Given the description of an element on the screen output the (x, y) to click on. 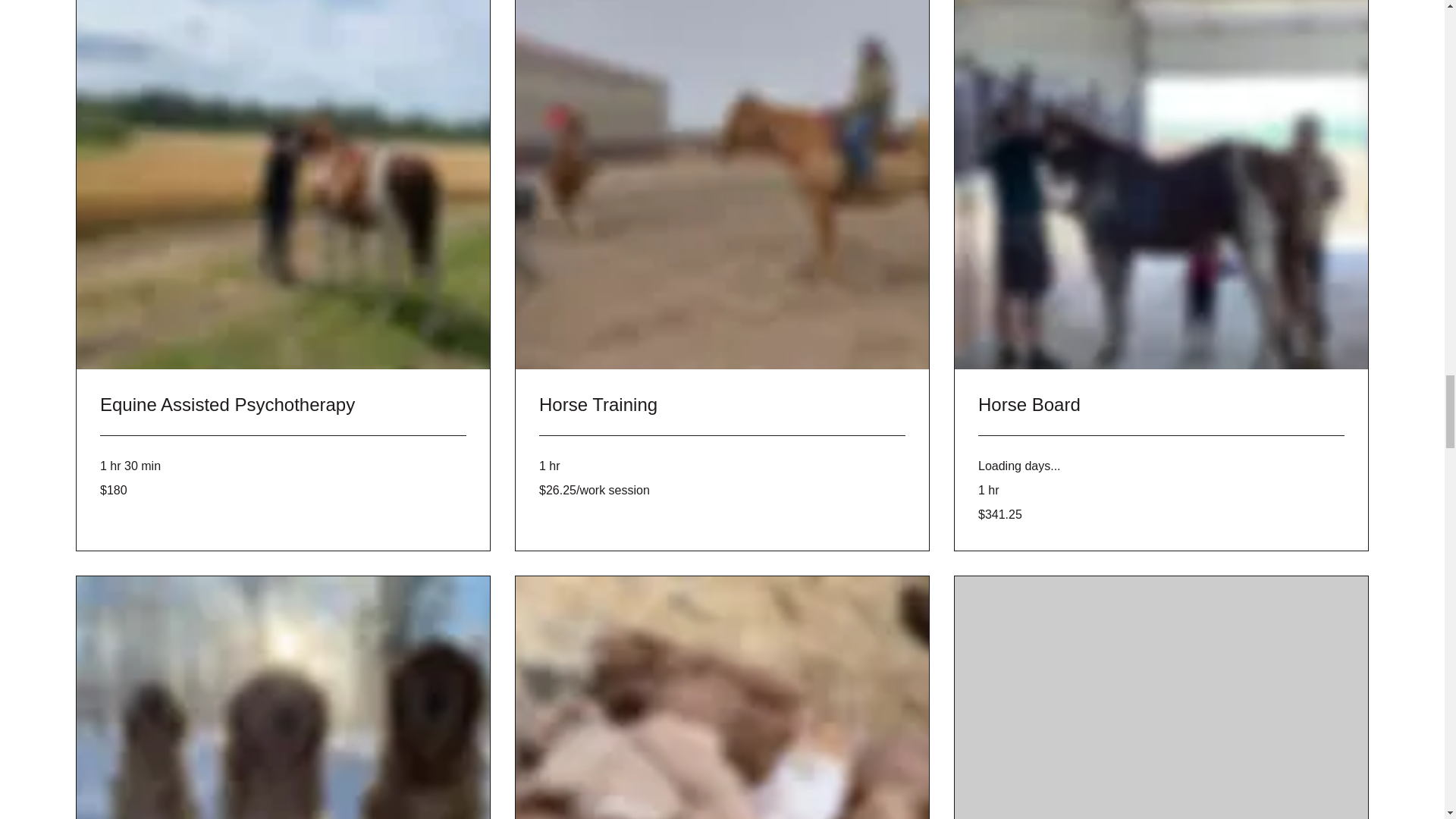
Horse Training (721, 404)
Equine Assisted Psychotherapy (282, 404)
Horse Board (1160, 404)
